Given the description of an element on the screen output the (x, y) to click on. 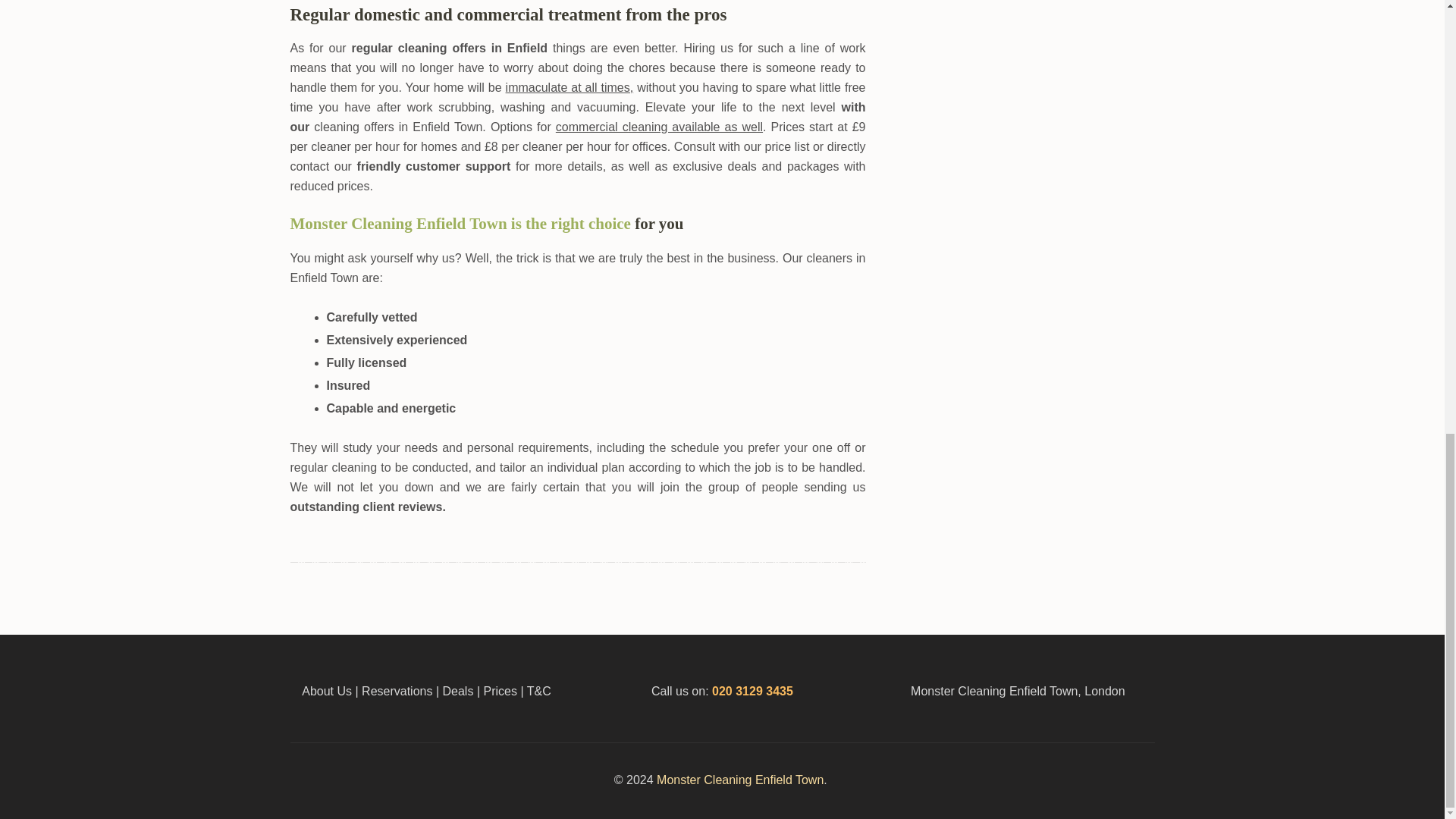
Monster Cleaning Enfield Town (740, 779)
Deals (459, 690)
Prices (499, 690)
About Us (326, 690)
020 3129 3435 (752, 690)
Reservations (396, 690)
Monster Cleaning Enfield Town (740, 779)
Monster Cleaning Enfield Town is the right choice (459, 223)
